Given the description of an element on the screen output the (x, y) to click on. 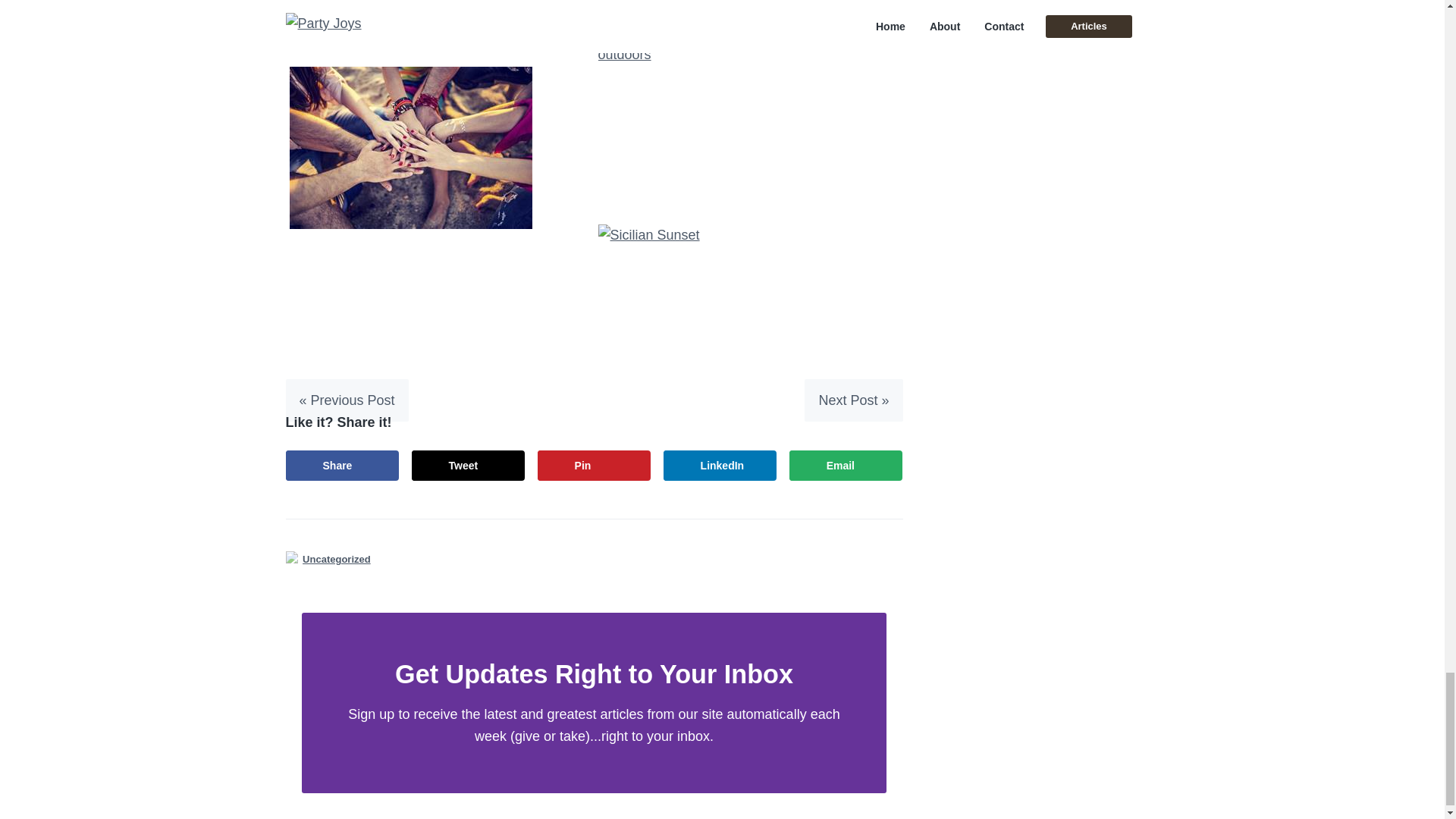
Share on LinkedIn (720, 465)
Share on Facebook (341, 465)
Share on X (468, 465)
LinkedIn (720, 465)
Uncategorized (336, 559)
Share (341, 465)
Tweet (468, 465)
Send over email (845, 465)
Email (845, 465)
Save to Pinterest (593, 465)
